Given the description of an element on the screen output the (x, y) to click on. 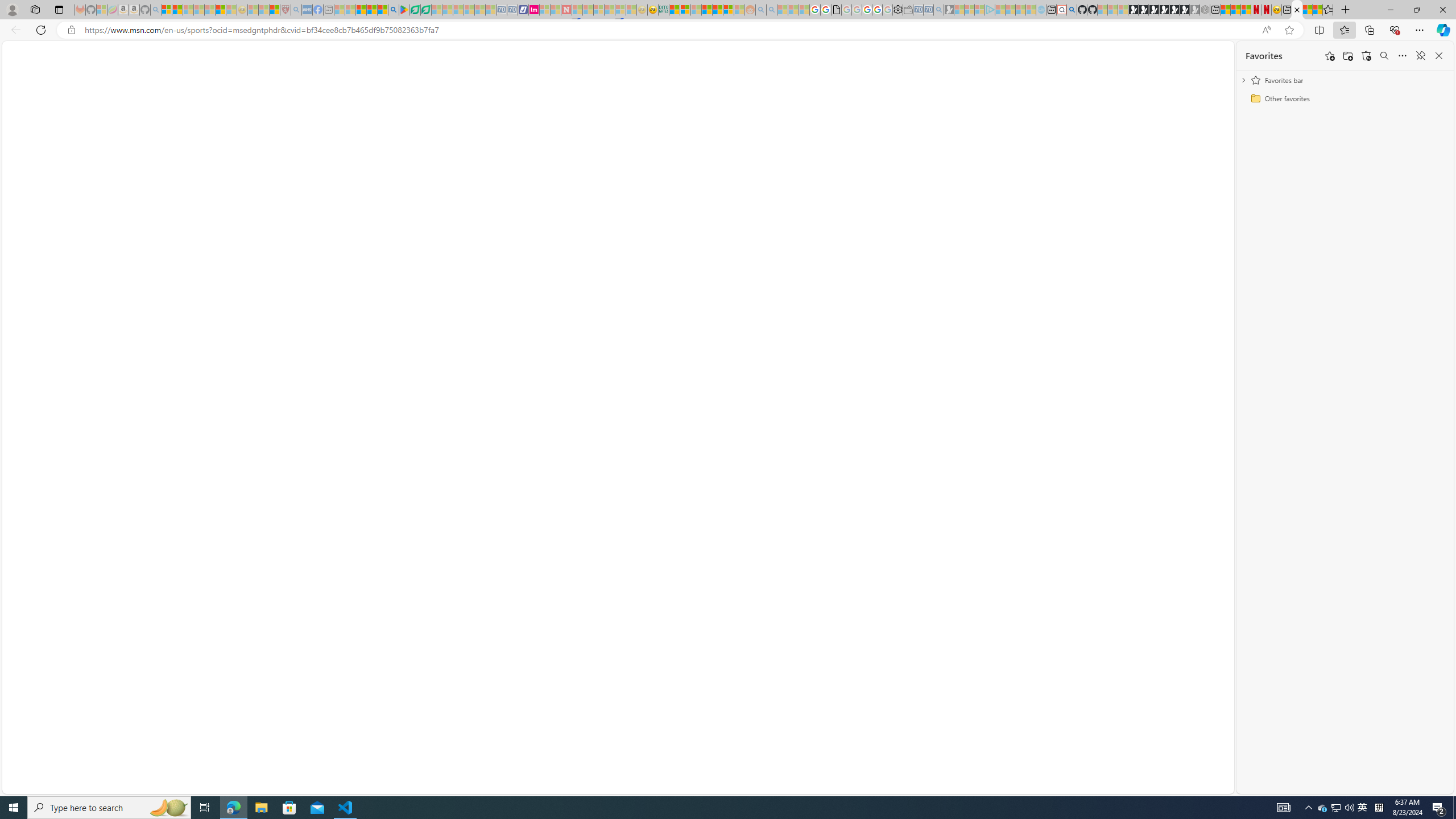
Terms of Use Agreement (414, 9)
Play Cave FRVR in your browser | Games from Microsoft Start (1153, 9)
